Given the description of an element on the screen output the (x, y) to click on. 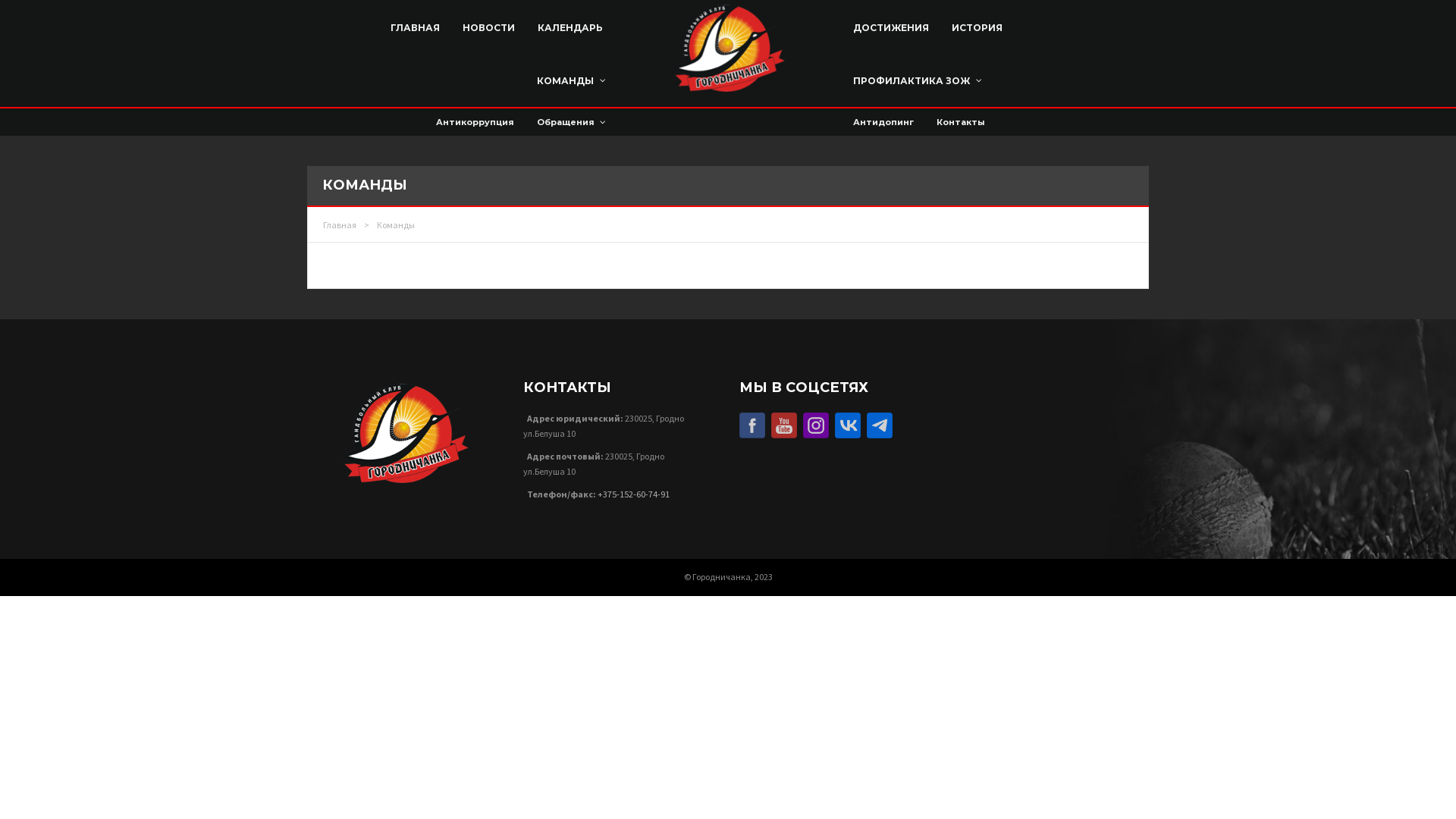
+375-152-60-74-91 Element type: text (633, 493)
